Given the description of an element on the screen output the (x, y) to click on. 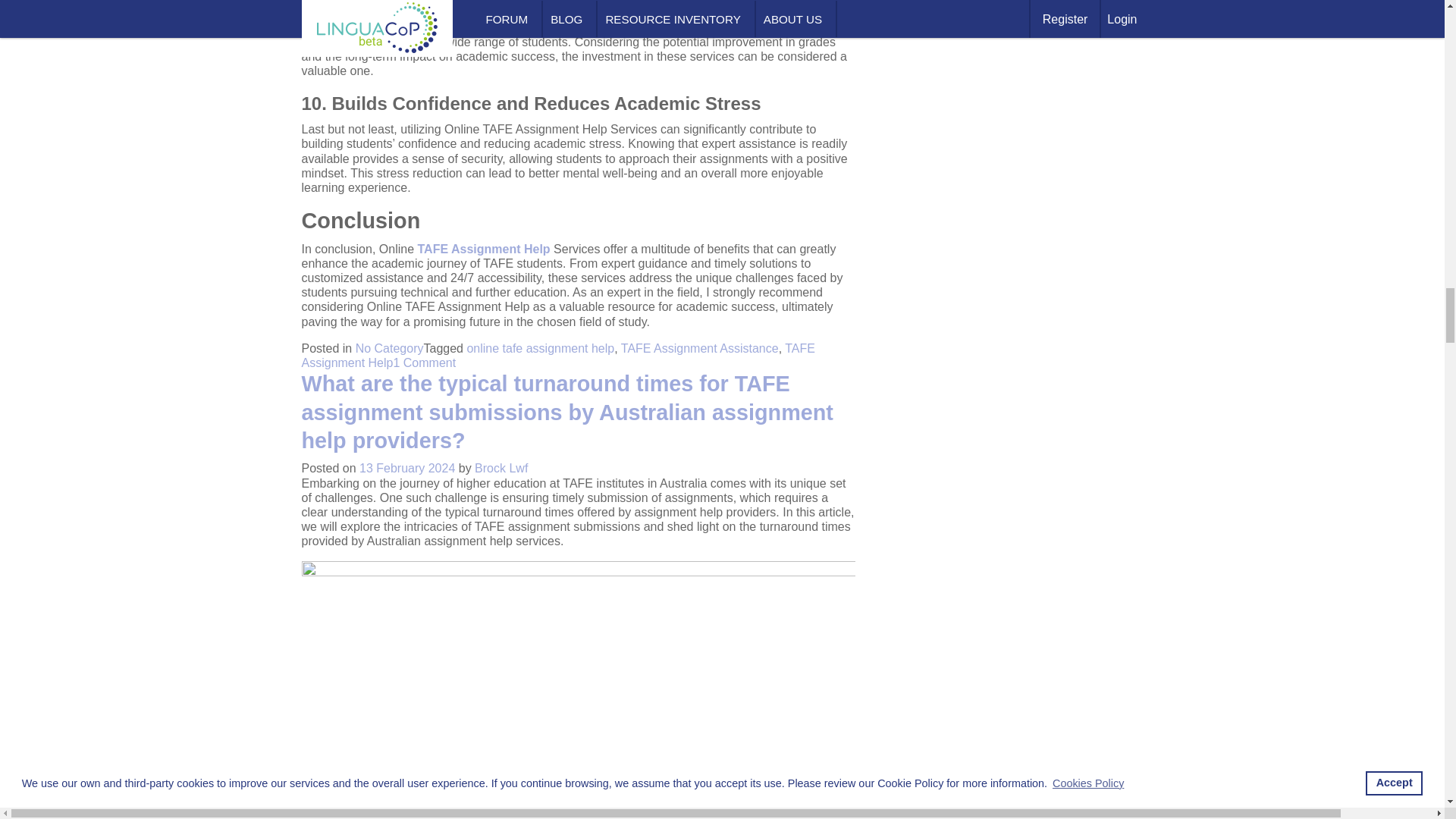
online tafe assignment help (539, 348)
No Category (389, 348)
TAFE Assignment Assistance (699, 348)
13 February 2024 (406, 468)
TAFE Assignment Help (558, 355)
Brock Lwf (500, 468)
TAFE Assignment Help (483, 248)
